Given the description of an element on the screen output the (x, y) to click on. 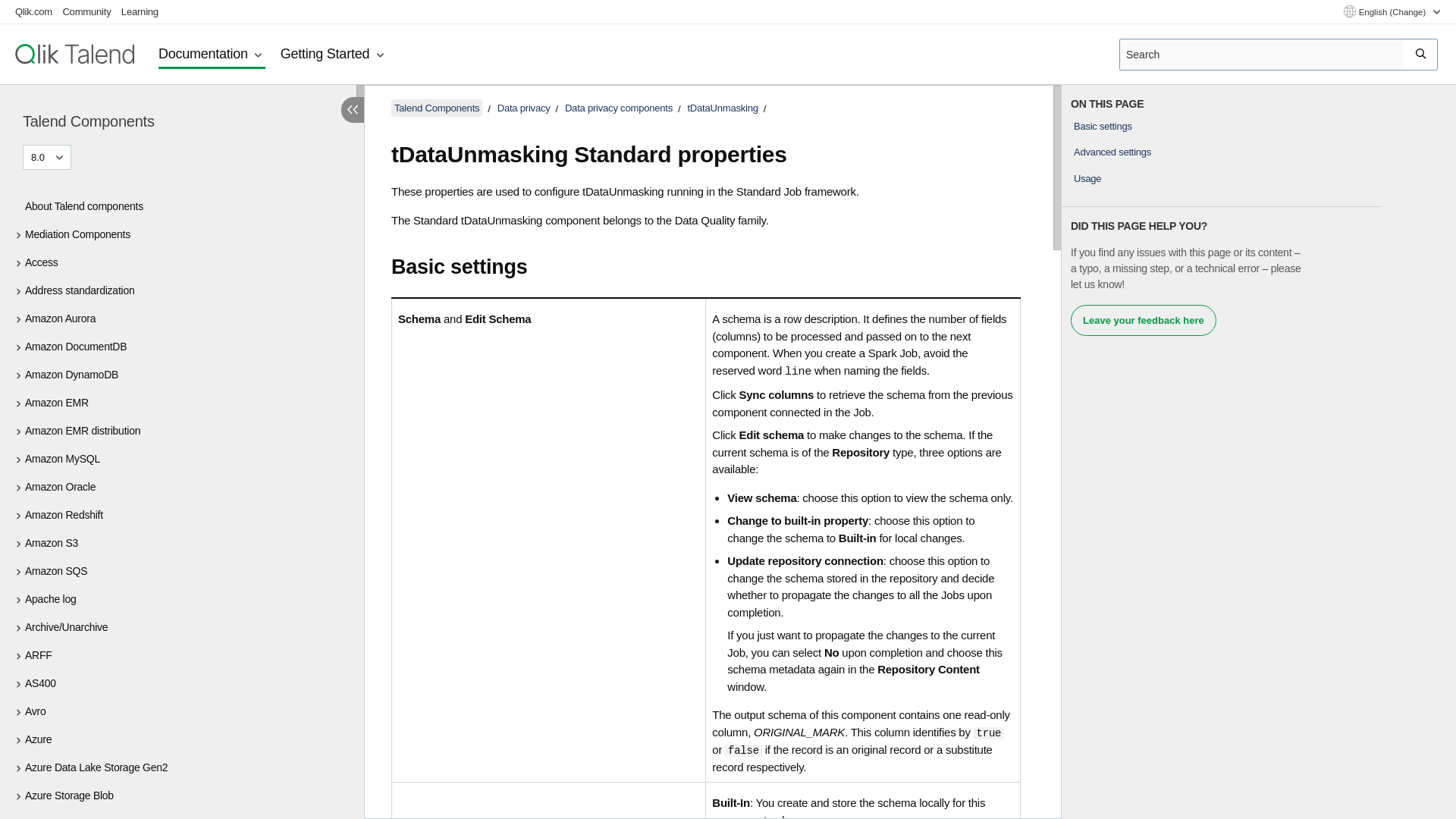
Search (1421, 54)
Qlik.com (33, 11)
Learning (139, 11)
Community (86, 11)
Documentation (211, 54)
Getting Started (334, 54)
